Given the description of an element on the screen output the (x, y) to click on. 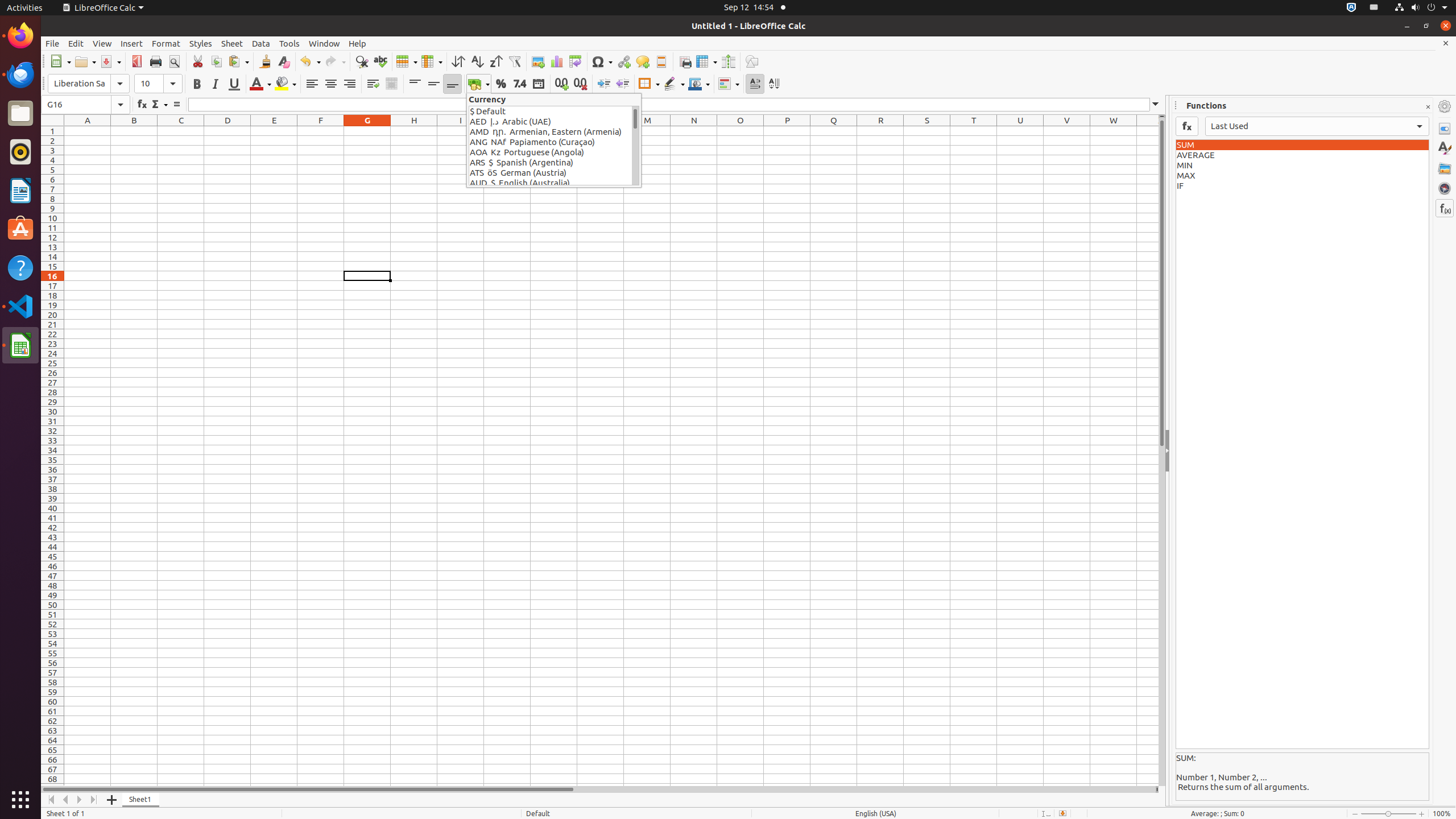
Number Element type: push-button (519, 83)
Clear Element type: push-button (283, 61)
Clone Element type: push-button (264, 61)
Sort Element type: push-button (457, 61)
